Given the description of an element on the screen output the (x, y) to click on. 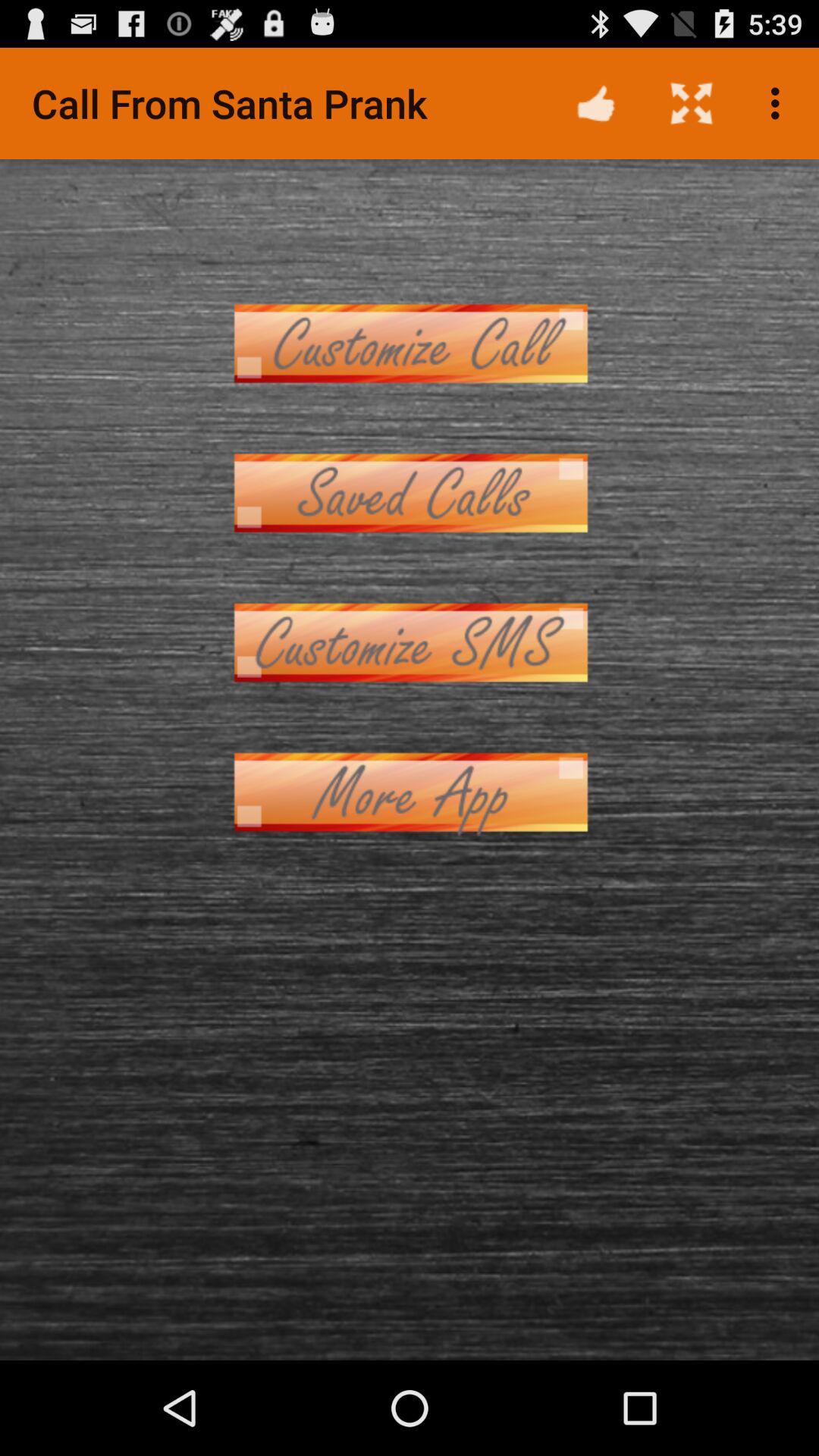
customize sms (409, 642)
